Given the description of an element on the screen output the (x, y) to click on. 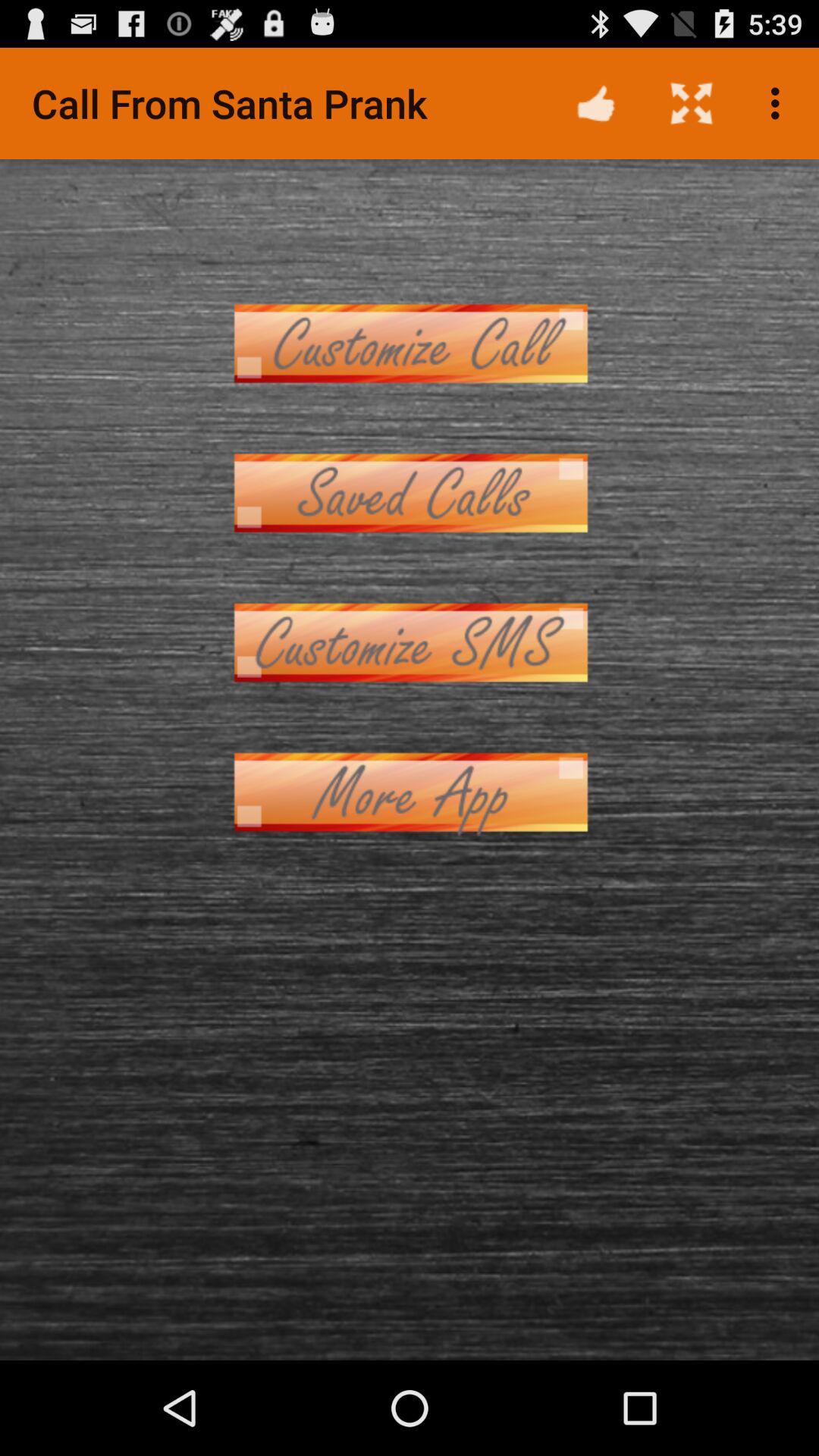
customize sms (409, 642)
